Given the description of an element on the screen output the (x, y) to click on. 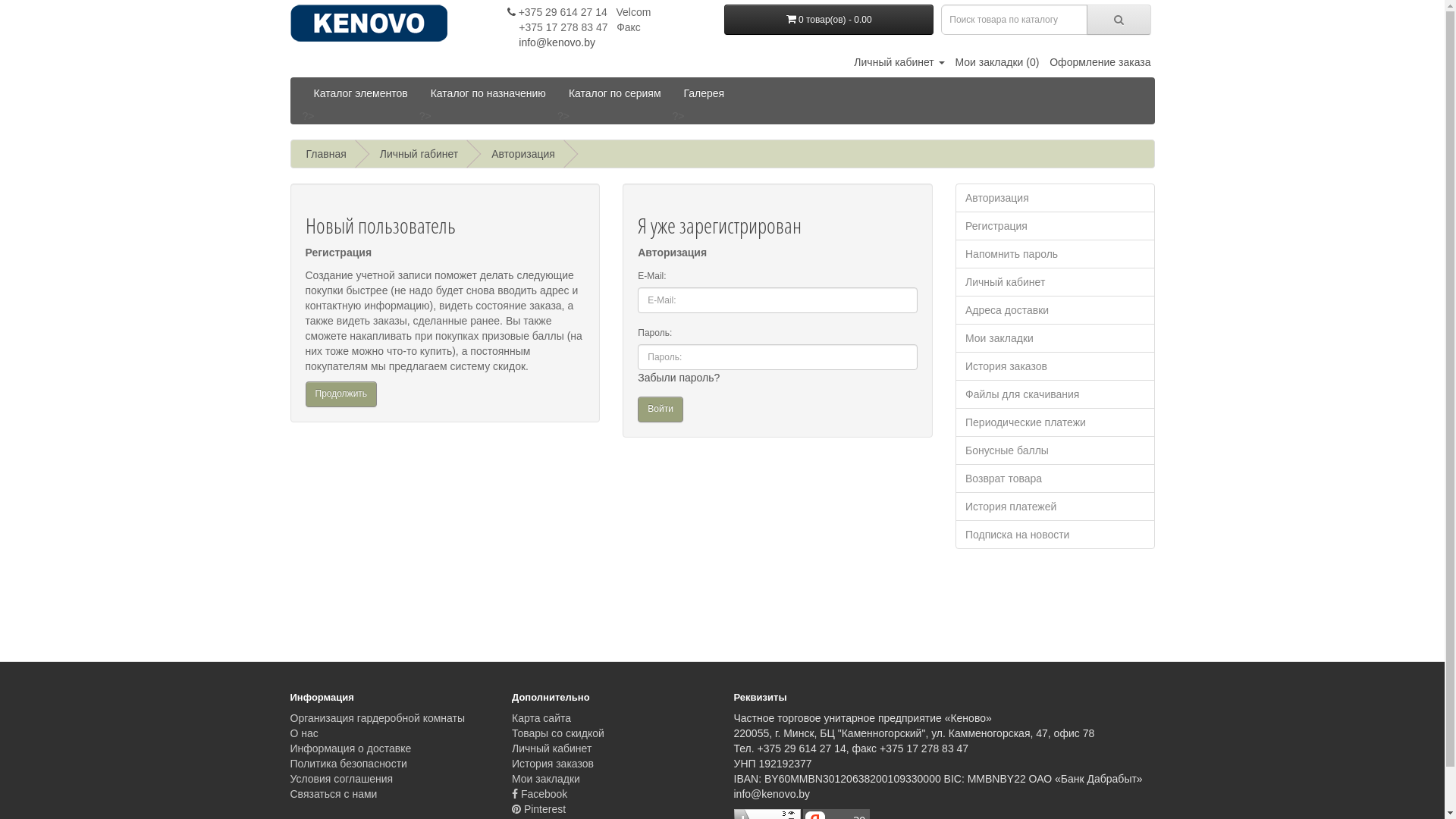
Facebook Element type: text (539, 793)
    info@kenovo.by Element type: text (551, 42)
Pinterest Element type: text (538, 809)
